Given the description of an element on the screen output the (x, y) to click on. 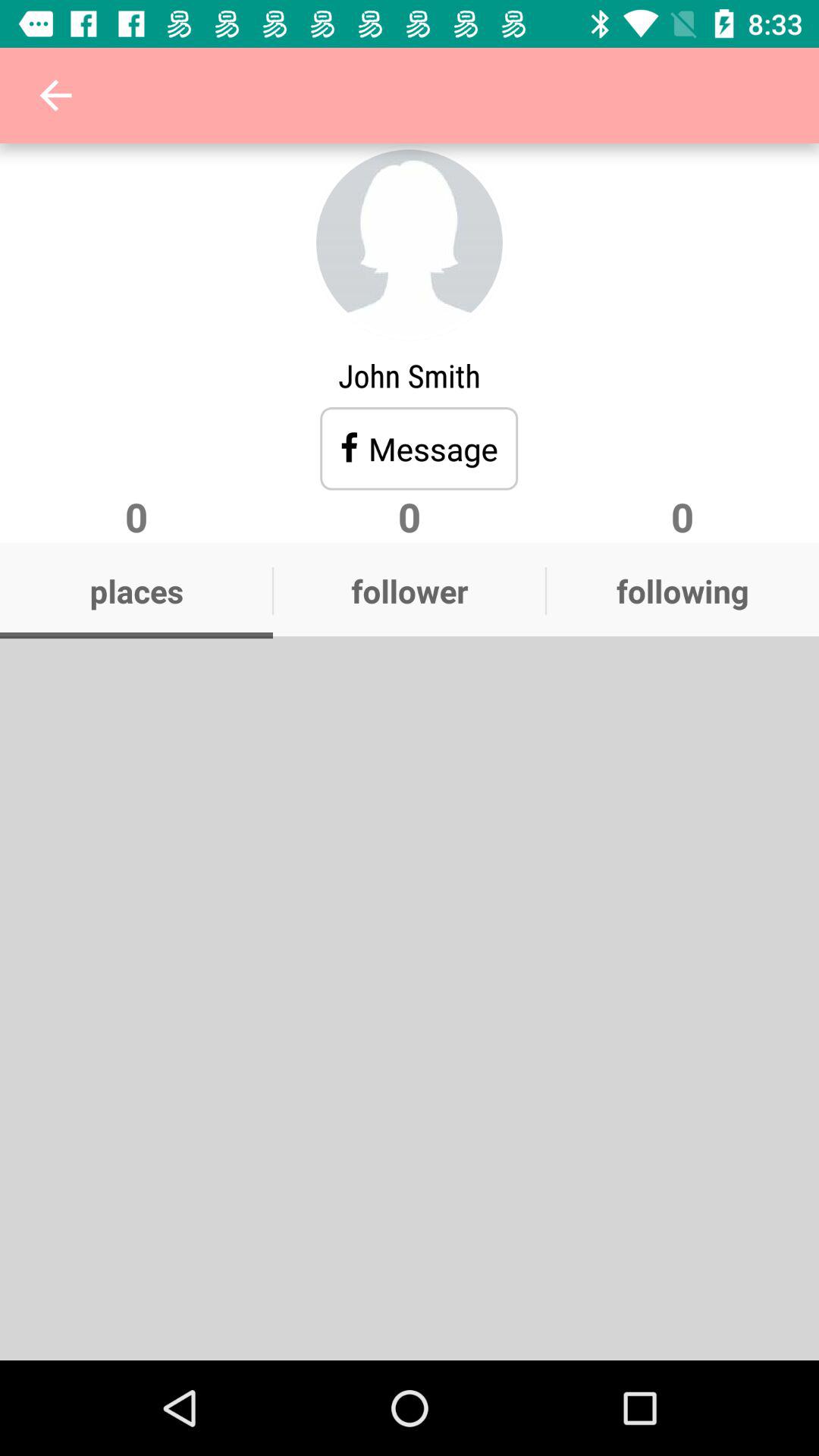
open item below the 0 item (136, 590)
